Given the description of an element on the screen output the (x, y) to click on. 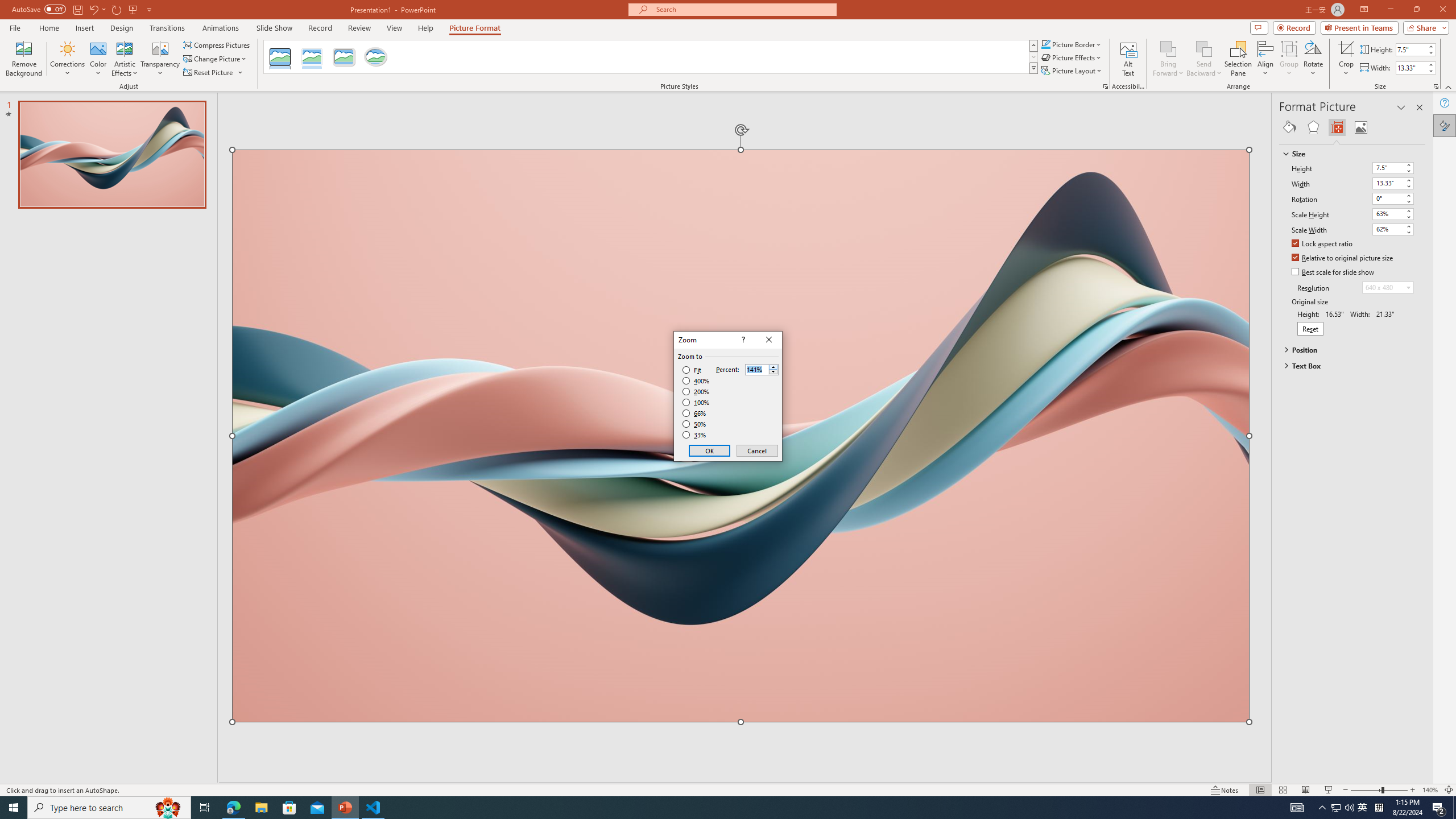
Group (1288, 58)
100% (696, 402)
Best scale for slide show (1333, 272)
Reflected Bevel, White (312, 56)
